Given the description of an element on the screen output the (x, y) to click on. 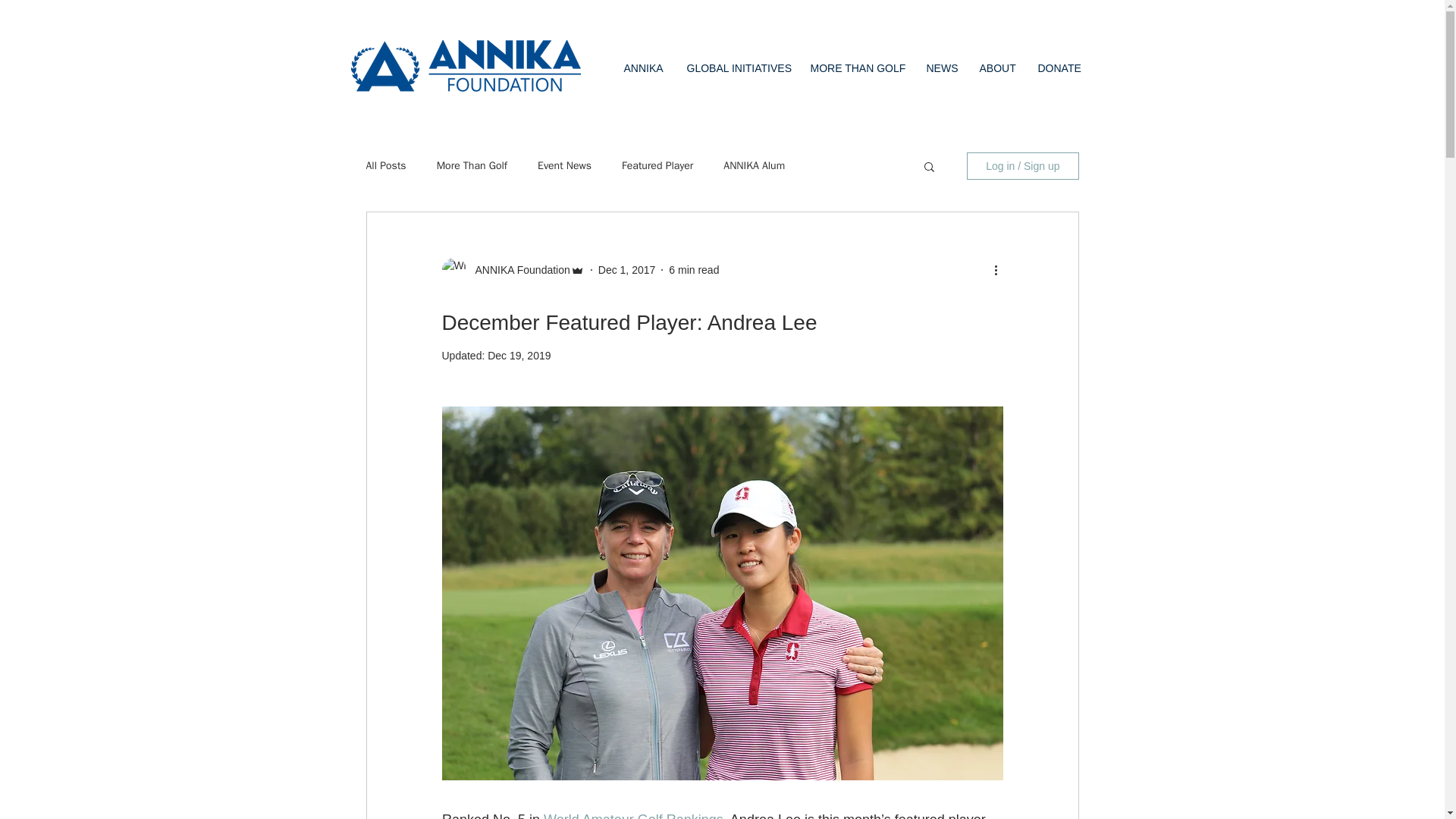
ANNIKA Foundation  (517, 270)
Event News (564, 165)
DONATE (1059, 68)
All Posts (385, 165)
ANNIKA Alum (753, 165)
Dec 1, 2017 (627, 269)
Featured Player (657, 165)
NEWS (941, 68)
MORE THAN GOLF (857, 68)
Dec 19, 2019 (518, 355)
